Given the description of an element on the screen output the (x, y) to click on. 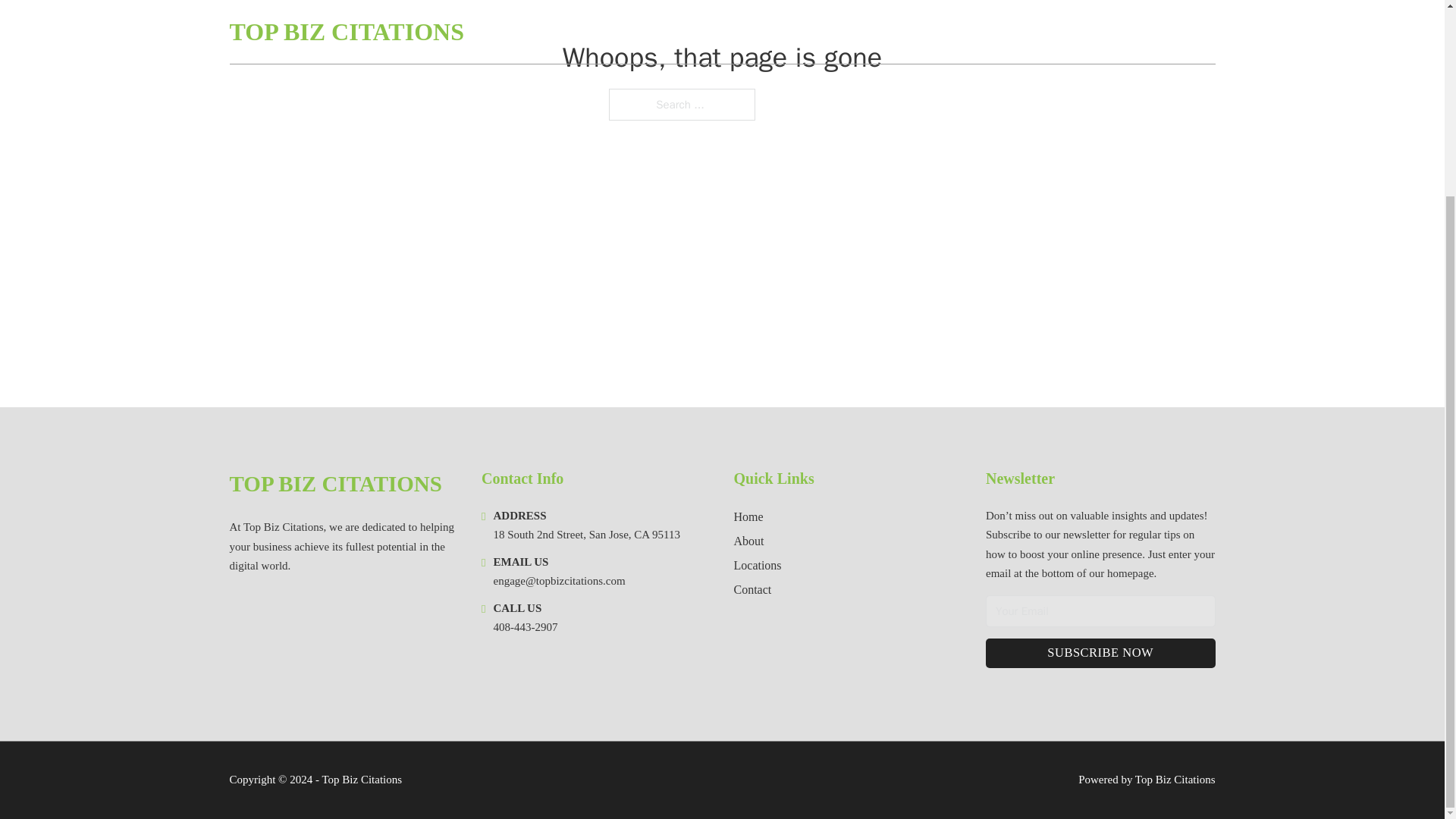
Contact (752, 589)
SUBSCRIBE NOW (1100, 653)
408-443-2907 (525, 626)
Locations (757, 565)
Home (747, 516)
About (748, 540)
TOP BIZ CITATIONS (334, 484)
